Given the description of an element on the screen output the (x, y) to click on. 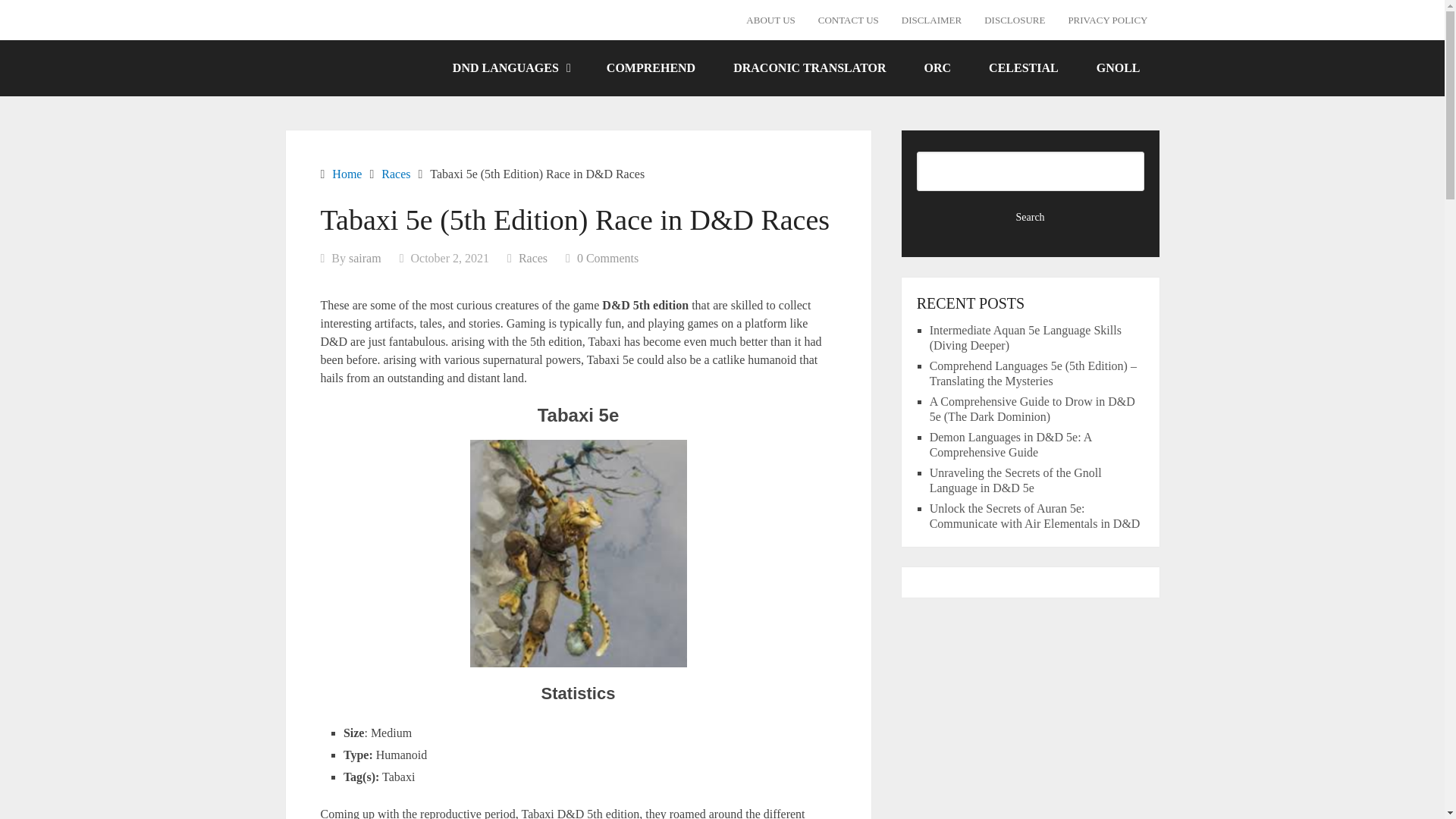
COMPREHEND (651, 67)
0 Comments (607, 257)
Search (1030, 217)
DISCLOSURE (1014, 20)
CELESTIAL (1023, 67)
DISCLAIMER (930, 20)
CONTACT US (847, 20)
Home (346, 173)
PRIVACY POLICY (1107, 20)
Races (532, 257)
